Given the description of an element on the screen output the (x, y) to click on. 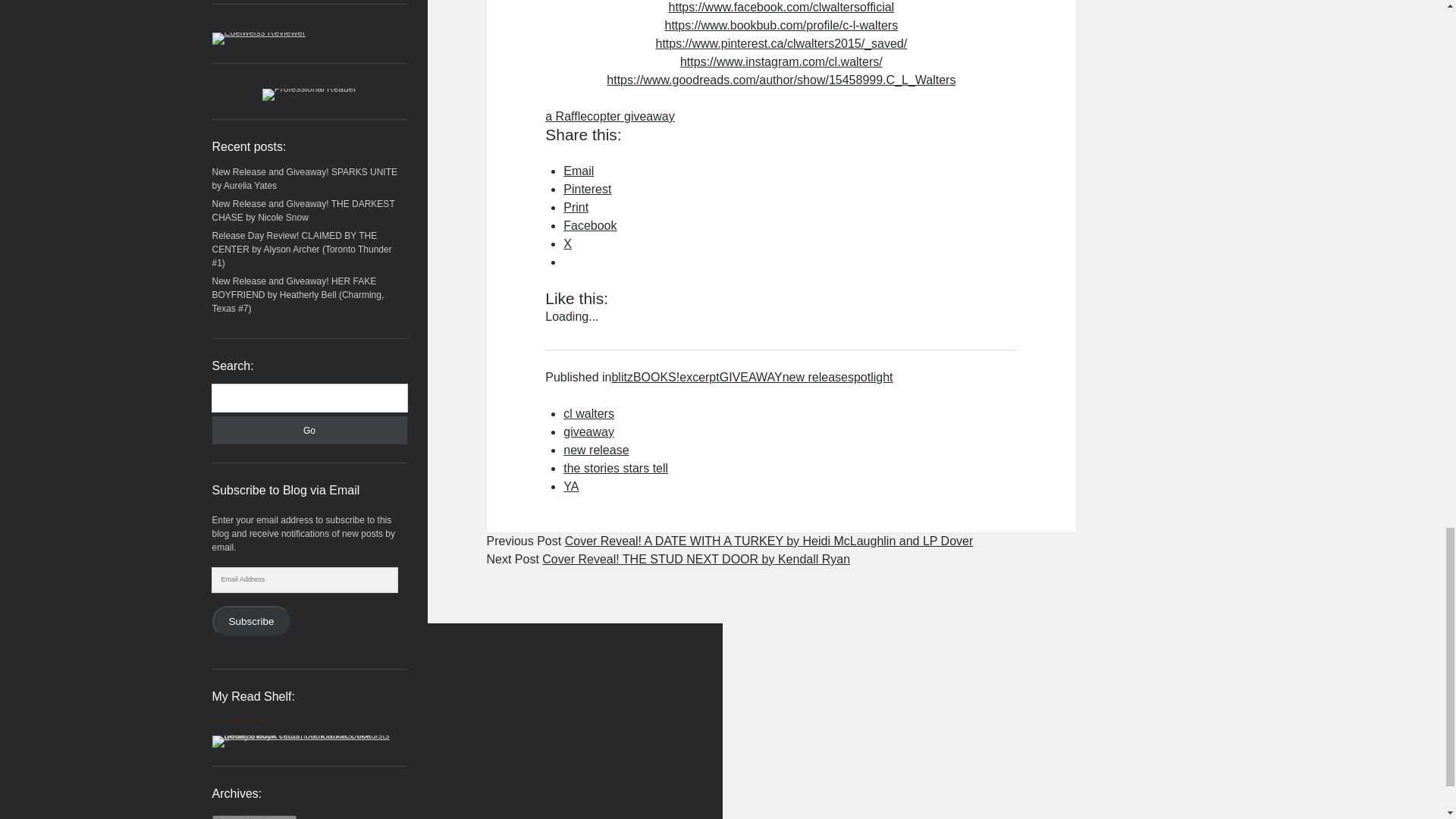
Go (309, 430)
Go (309, 430)
